Given the description of an element on the screen output the (x, y) to click on. 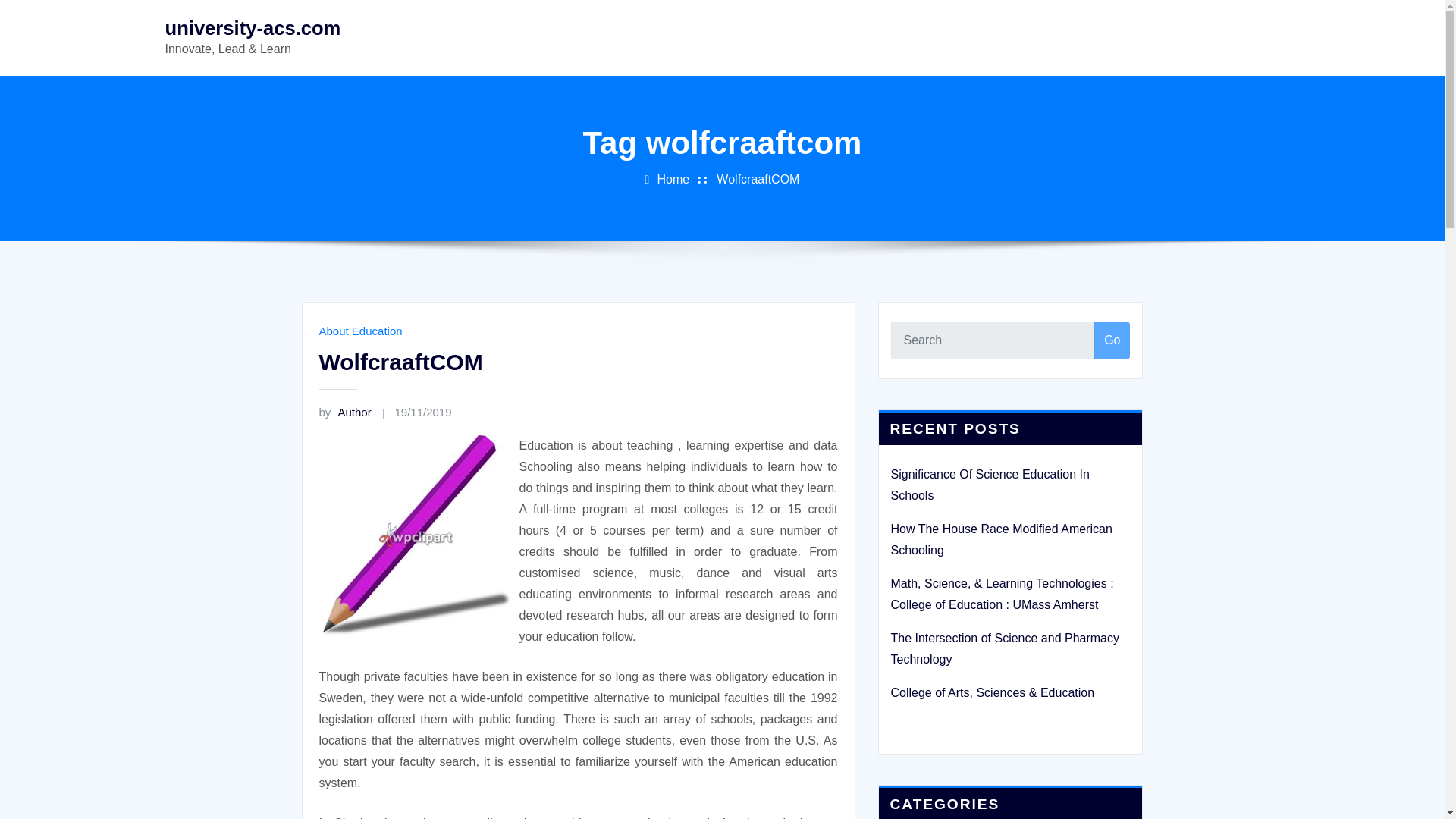
Significance Of Science Education In Schools (989, 484)
How The House Race Modified American Schooling (1000, 539)
Go (1111, 340)
by Author (344, 411)
Home (672, 178)
university-acs.com (252, 27)
WolfcraaftCOM (757, 178)
About Education (359, 330)
The Intersection of Science and Pharmacy Technology (1004, 648)
WolfcraaftCOM (399, 361)
